Given the description of an element on the screen output the (x, y) to click on. 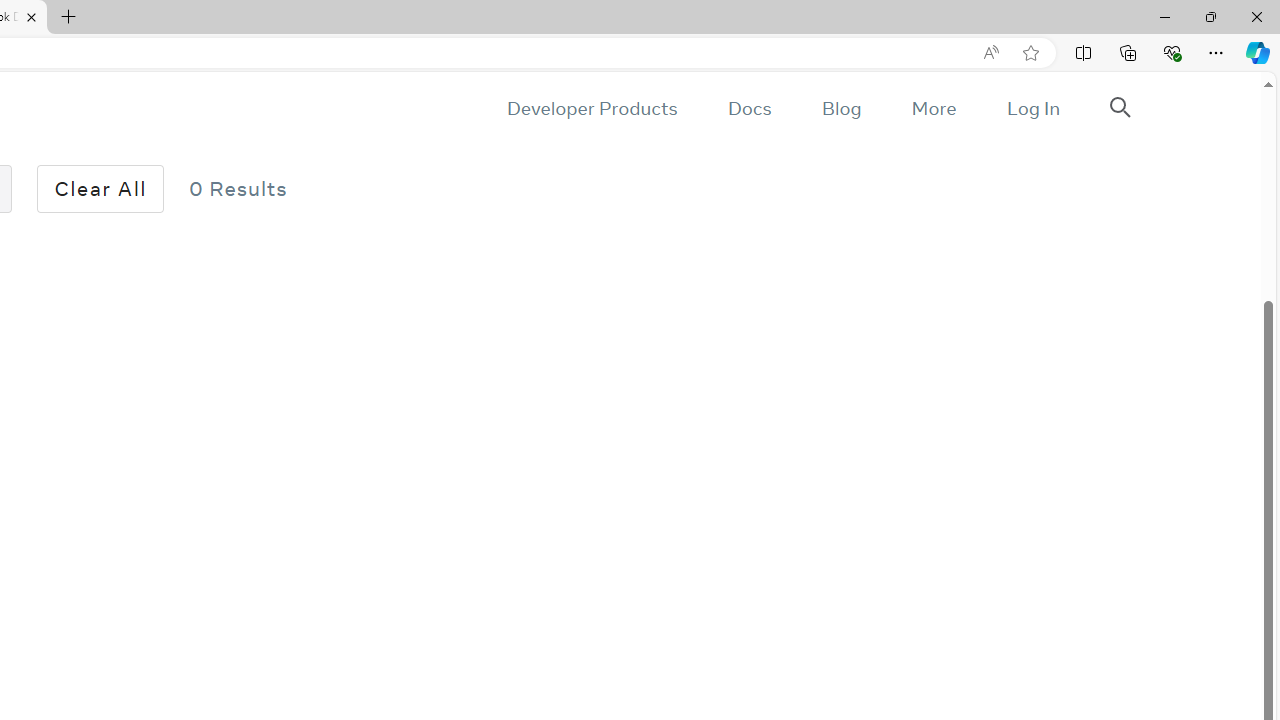
More (933, 108)
Developer Products (591, 108)
Log In (1032, 108)
Developer Products (591, 108)
